Given the description of an element on the screen output the (x, y) to click on. 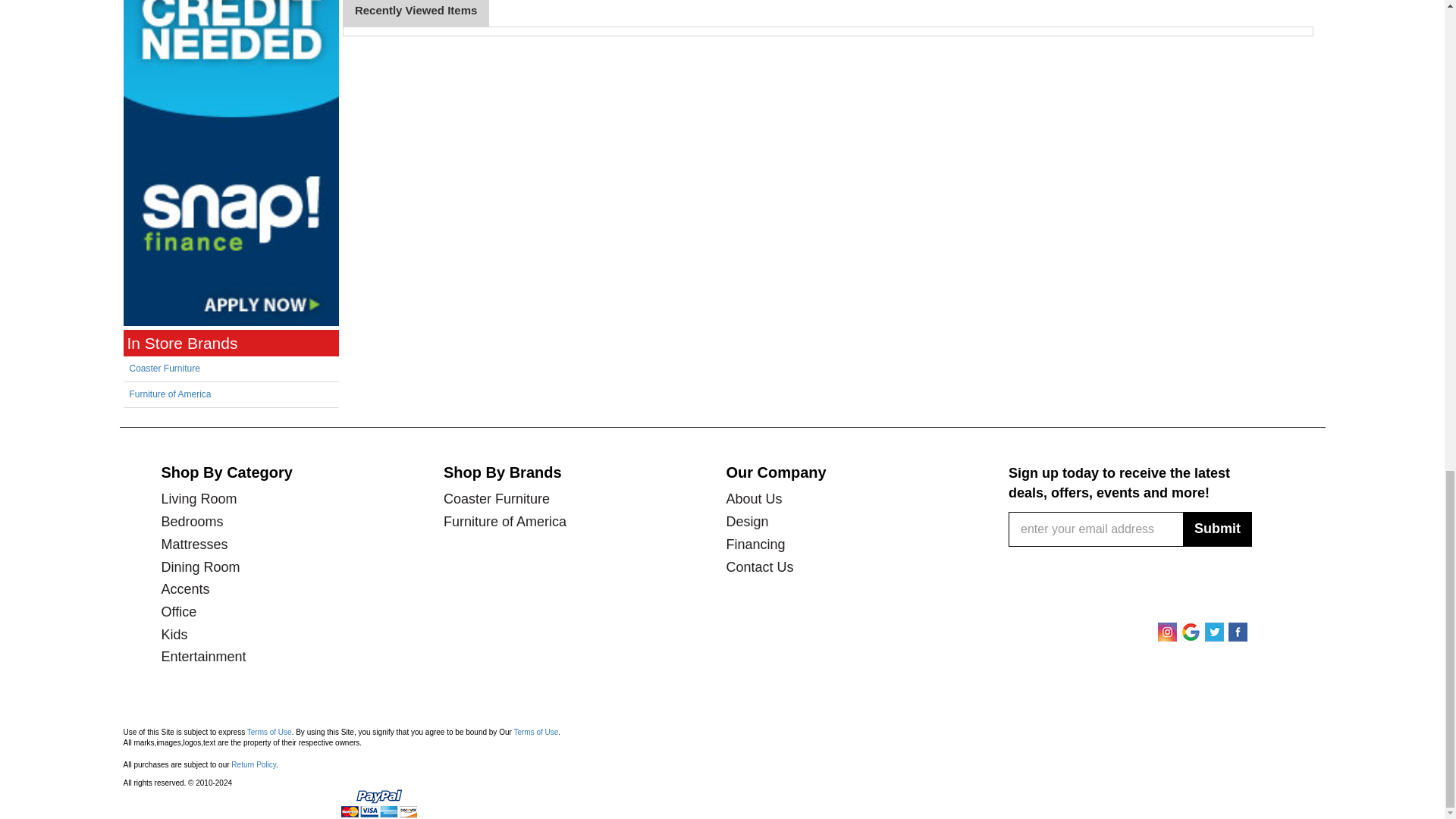
Submit (1217, 529)
